Given the description of an element on the screen output the (x, y) to click on. 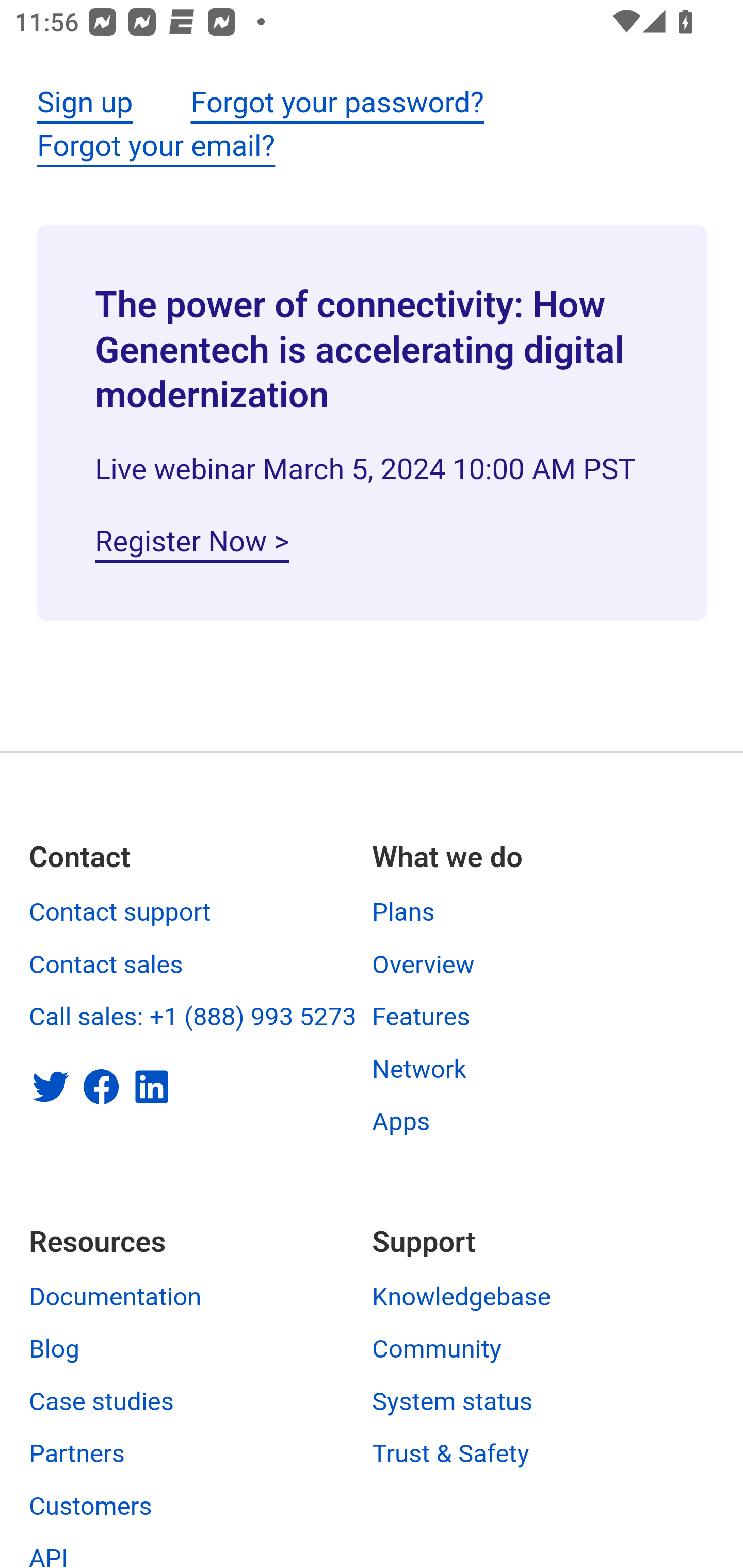
Sign up (84, 104)
Forgot your password? (336, 104)
Forgot your email? (156, 146)
Register Now > (191, 541)
Contact support (119, 912)
Plans (403, 912)
Contact sales (106, 965)
Overview (423, 965)
Call sales: +1 (888) 993 5273 (192, 1017)
Features (421, 1017)
Network (419, 1069)
Follow us on Twitter, opens in a new window or tab (50, 1086)
Apps (401, 1121)
Documentation (115, 1296)
Knowledgebase (462, 1296)
Blog (54, 1349)
Community (437, 1349)
Case studies (101, 1401)
System status (453, 1401)
Partners (77, 1453)
Trust & Safety (451, 1453)
Customers (90, 1505)
API (48, 1555)
